Given the description of an element on the screen output the (x, y) to click on. 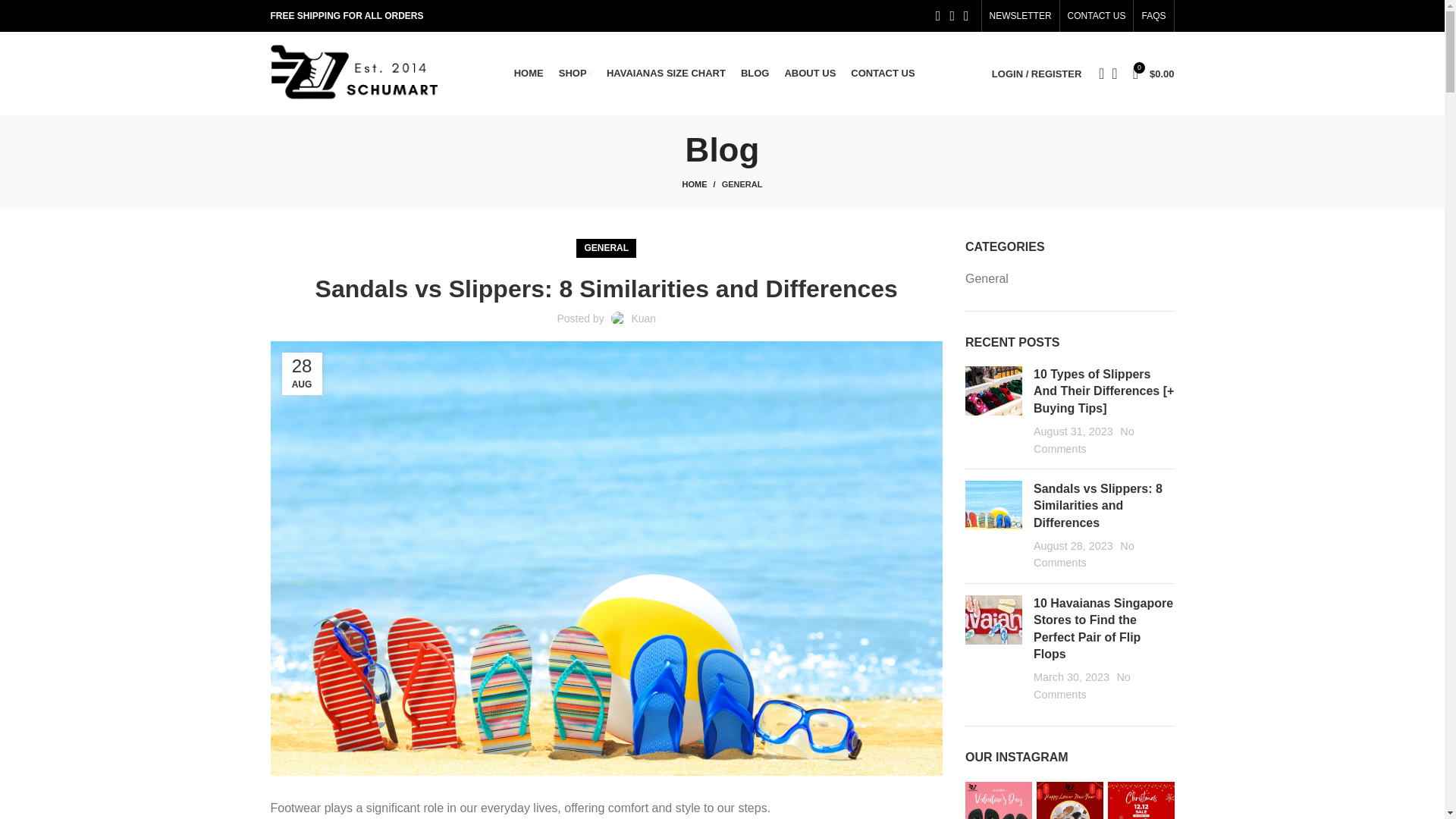
My account (1036, 73)
CONTACT US (1096, 15)
ABOUT US (809, 73)
SHOP (575, 73)
HOME (528, 73)
Shopping cart (1153, 73)
CONTACT US (882, 73)
NEWSLETTER (1020, 15)
HAVAIANAS SIZE CHART (666, 73)
BLOG (755, 73)
HOME (702, 184)
GENERAL (605, 248)
GENERAL (742, 184)
